Given the description of an element on the screen output the (x, y) to click on. 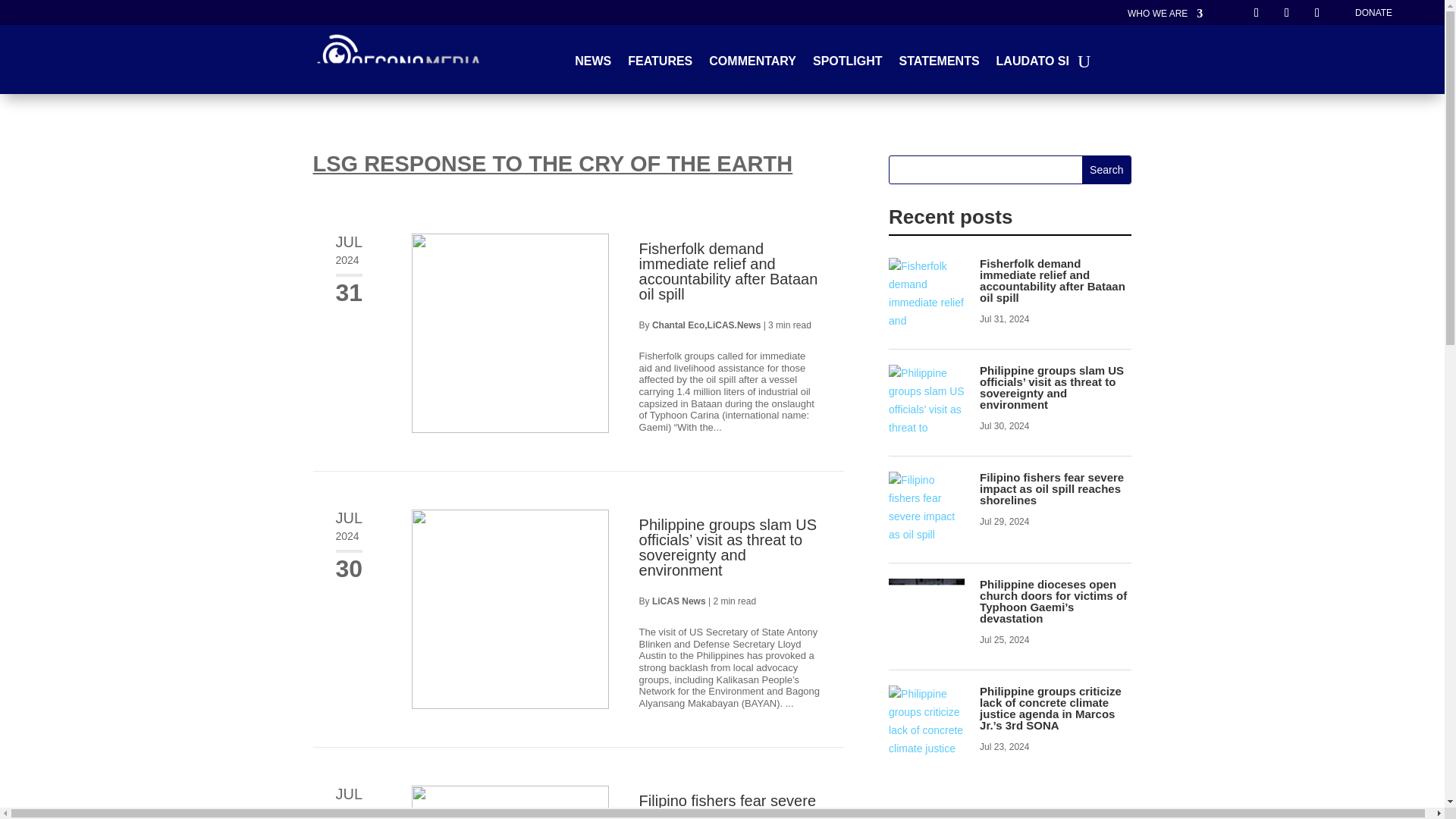
LiCAS News (679, 601)
COMMENTARY (752, 64)
LAUDATO SI (1031, 64)
WHO WE ARE (1164, 16)
Chantal Eco,LiCAS.News (706, 325)
Search (1106, 169)
Follow on Facebook (1256, 12)
SPOTLIGHT (847, 64)
Follow on Twitter (1286, 12)
NEWS (593, 64)
STATEMENTS (939, 64)
Search (1106, 169)
Follow on Instagram (1316, 12)
